Given the description of an element on the screen output the (x, y) to click on. 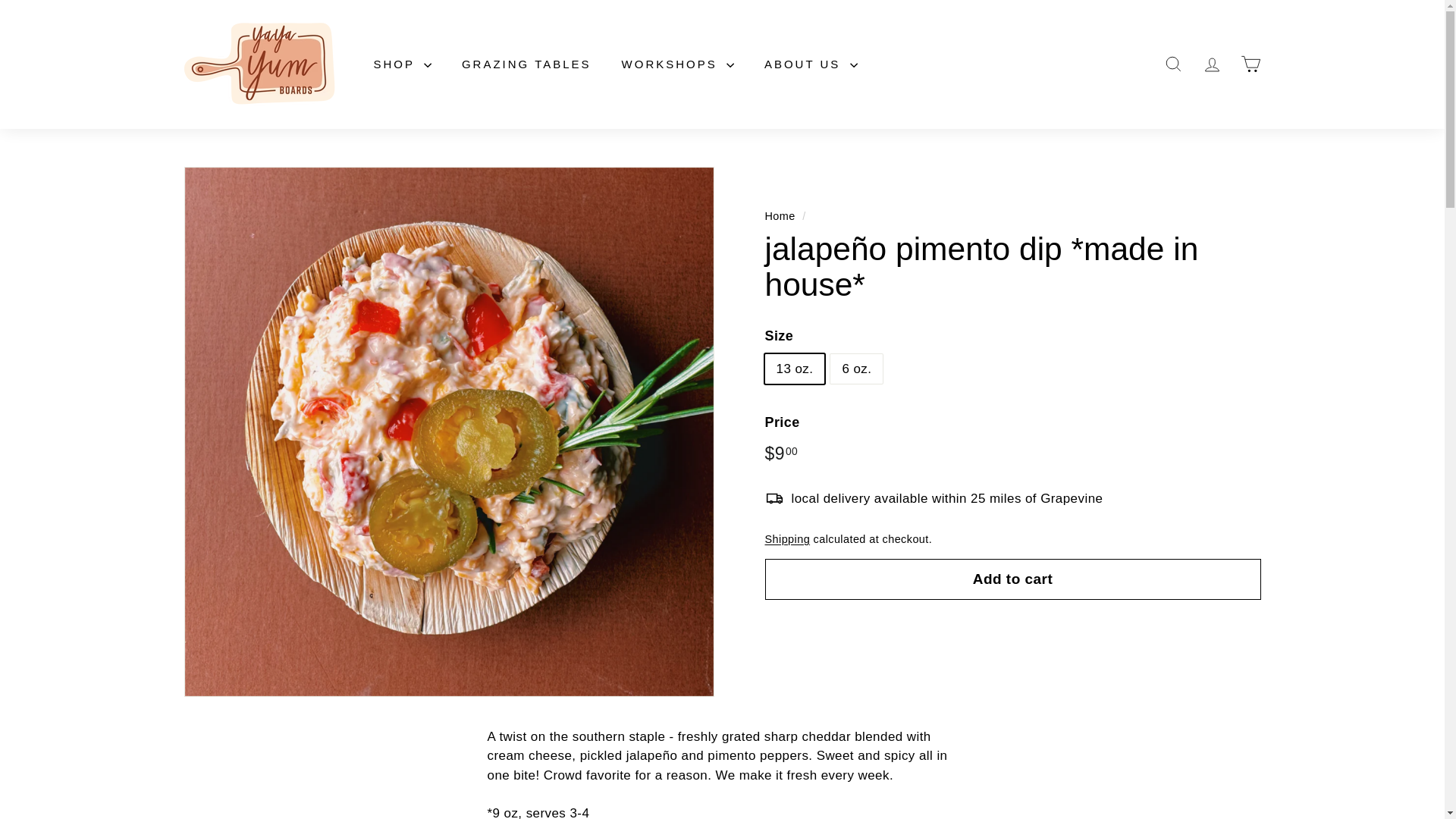
Back to the frontpage (779, 215)
GRAZING TABLES (526, 64)
